Given the description of an element on the screen output the (x, y) to click on. 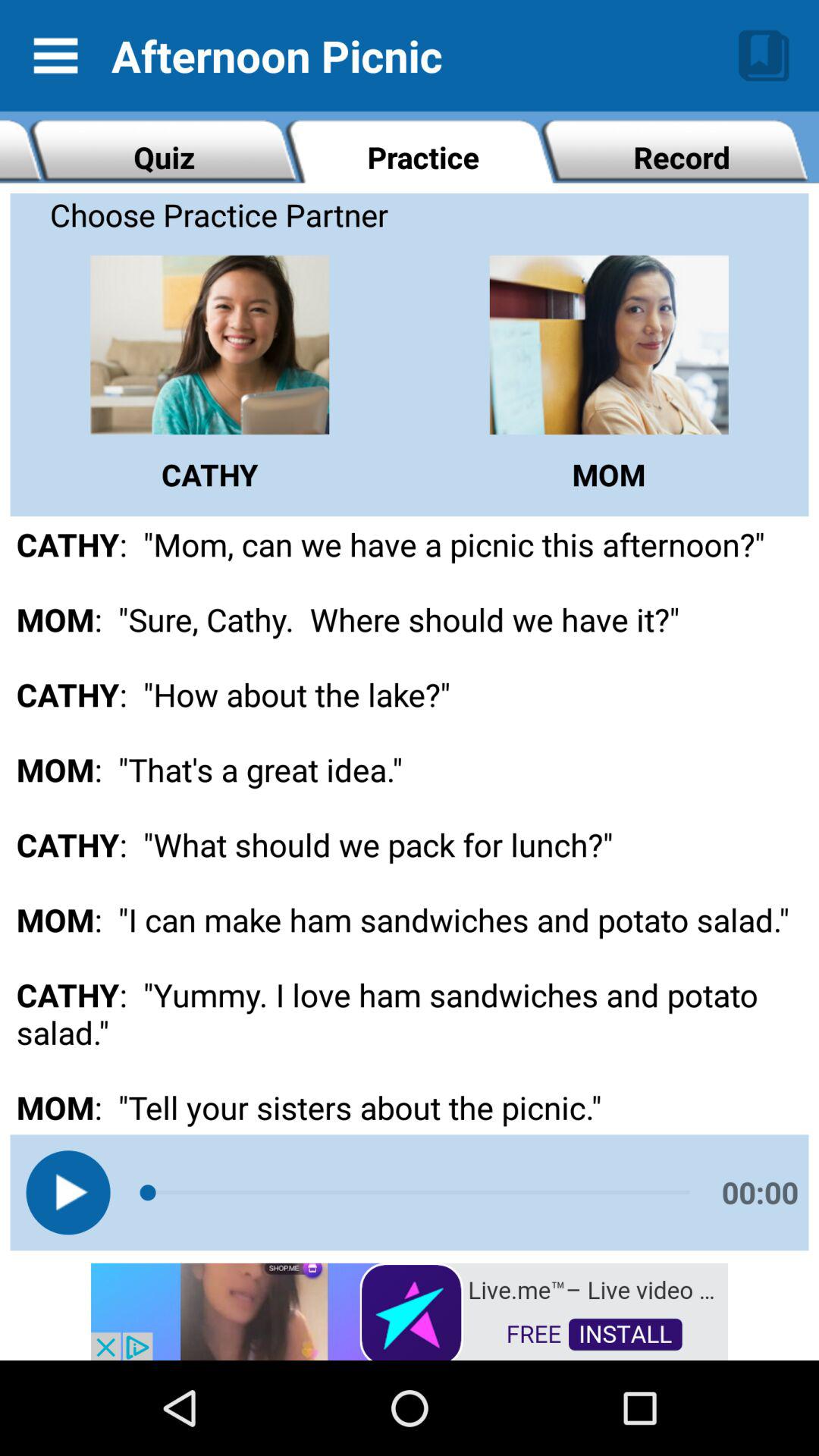
play this (68, 1192)
